Given the description of an element on the screen output the (x, y) to click on. 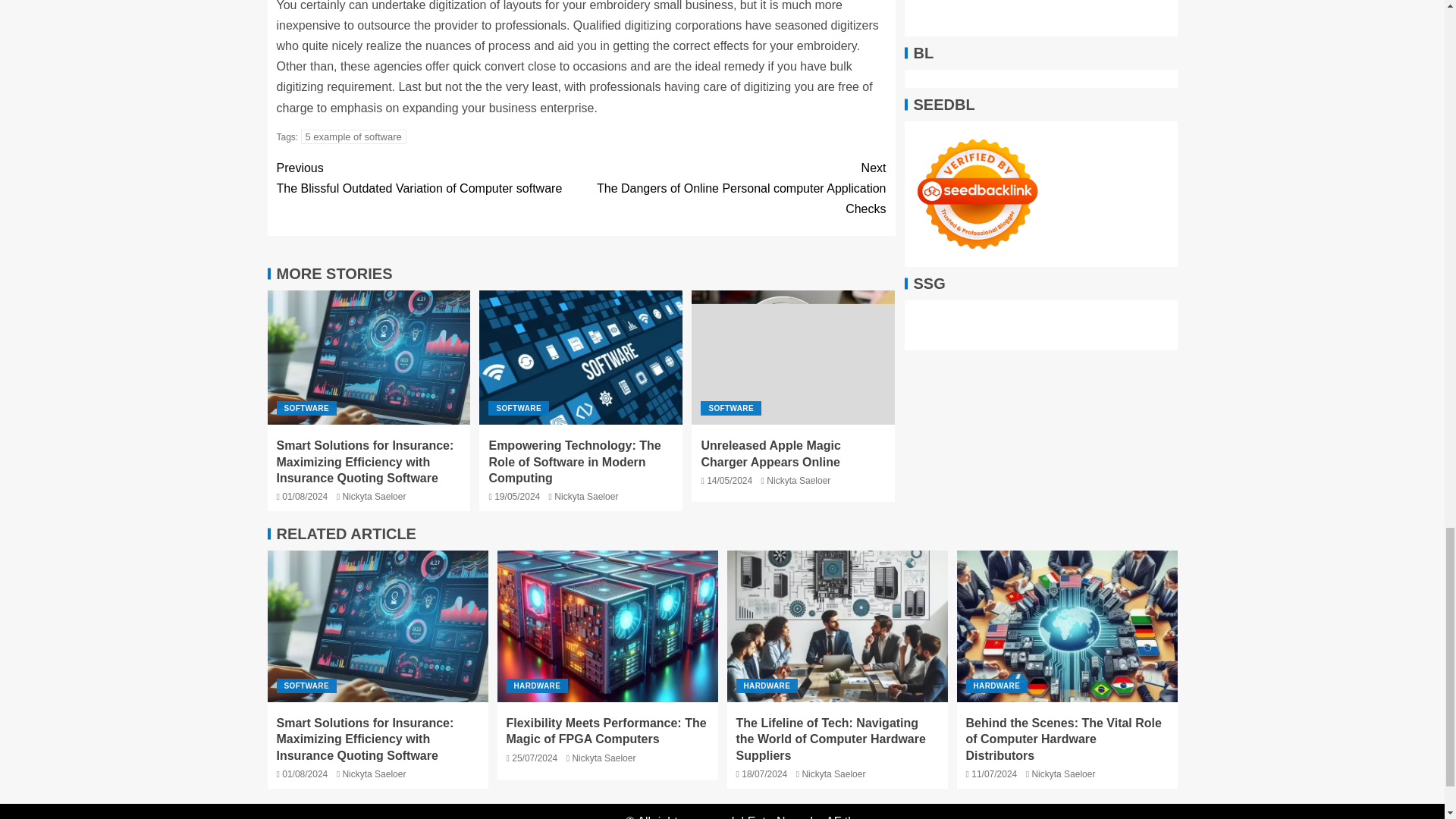
Nickyta Saeloer (374, 496)
SOFTWARE (517, 408)
Unreleased Apple Magic Charger Appears Online (793, 357)
5 example of software (353, 136)
Nickyta Saeloer (585, 496)
SOFTWARE (730, 408)
SOFTWARE (306, 408)
